Given the description of an element on the screen output the (x, y) to click on. 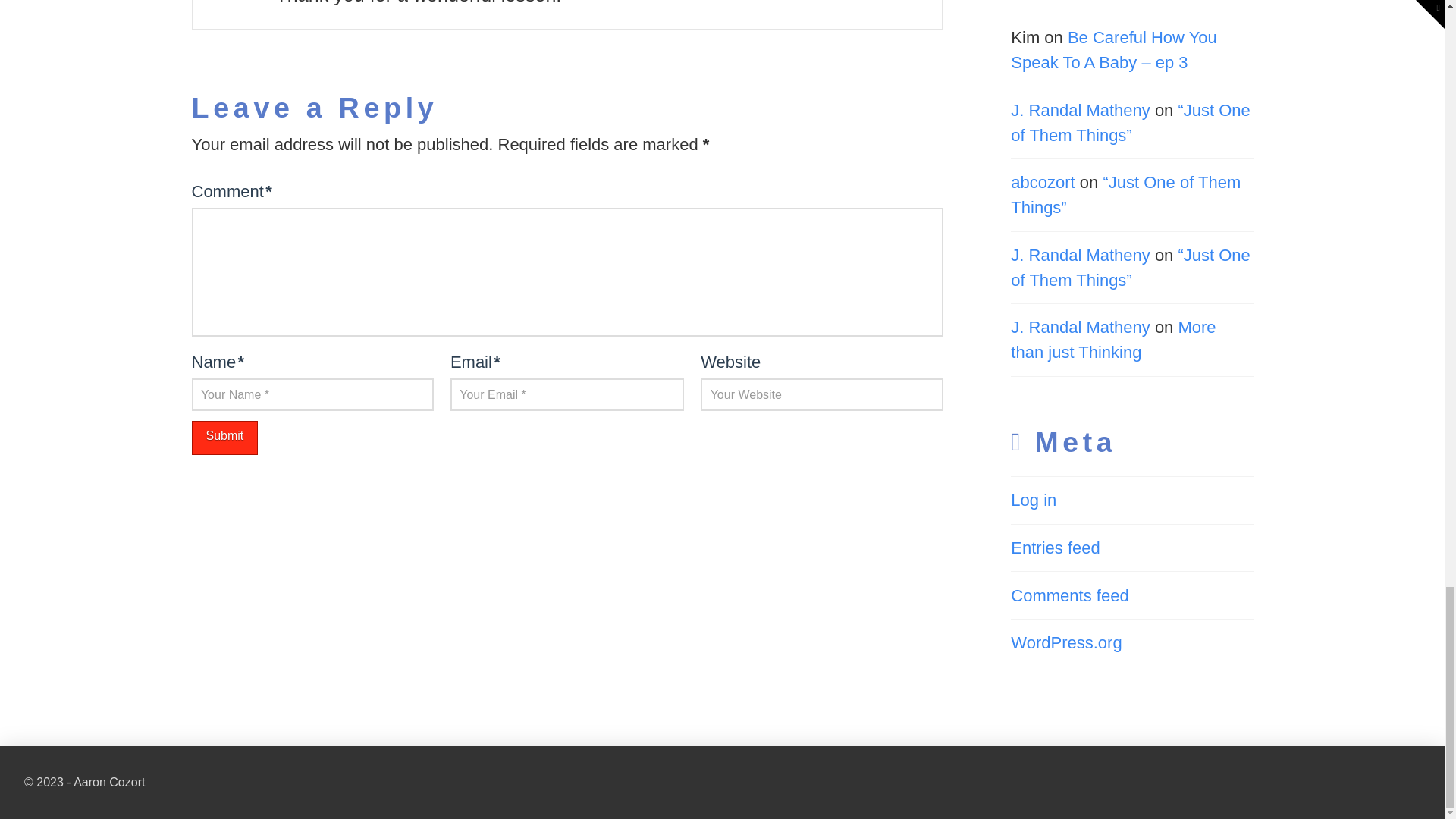
Submit (223, 437)
Submit (223, 437)
